Given the description of an element on the screen output the (x, y) to click on. 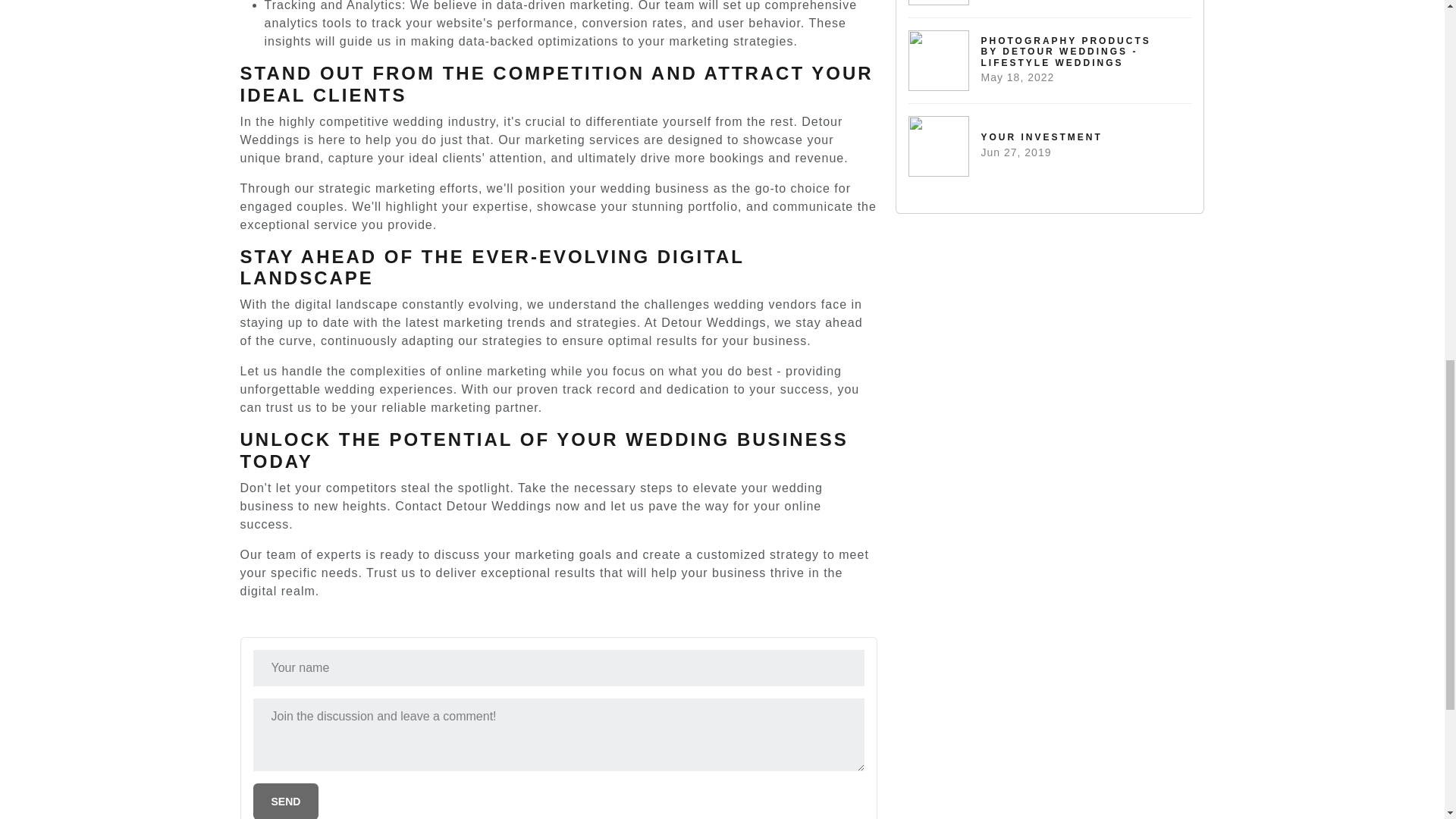
Send (1050, 8)
Send (285, 800)
